Given the description of an element on the screen output the (x, y) to click on. 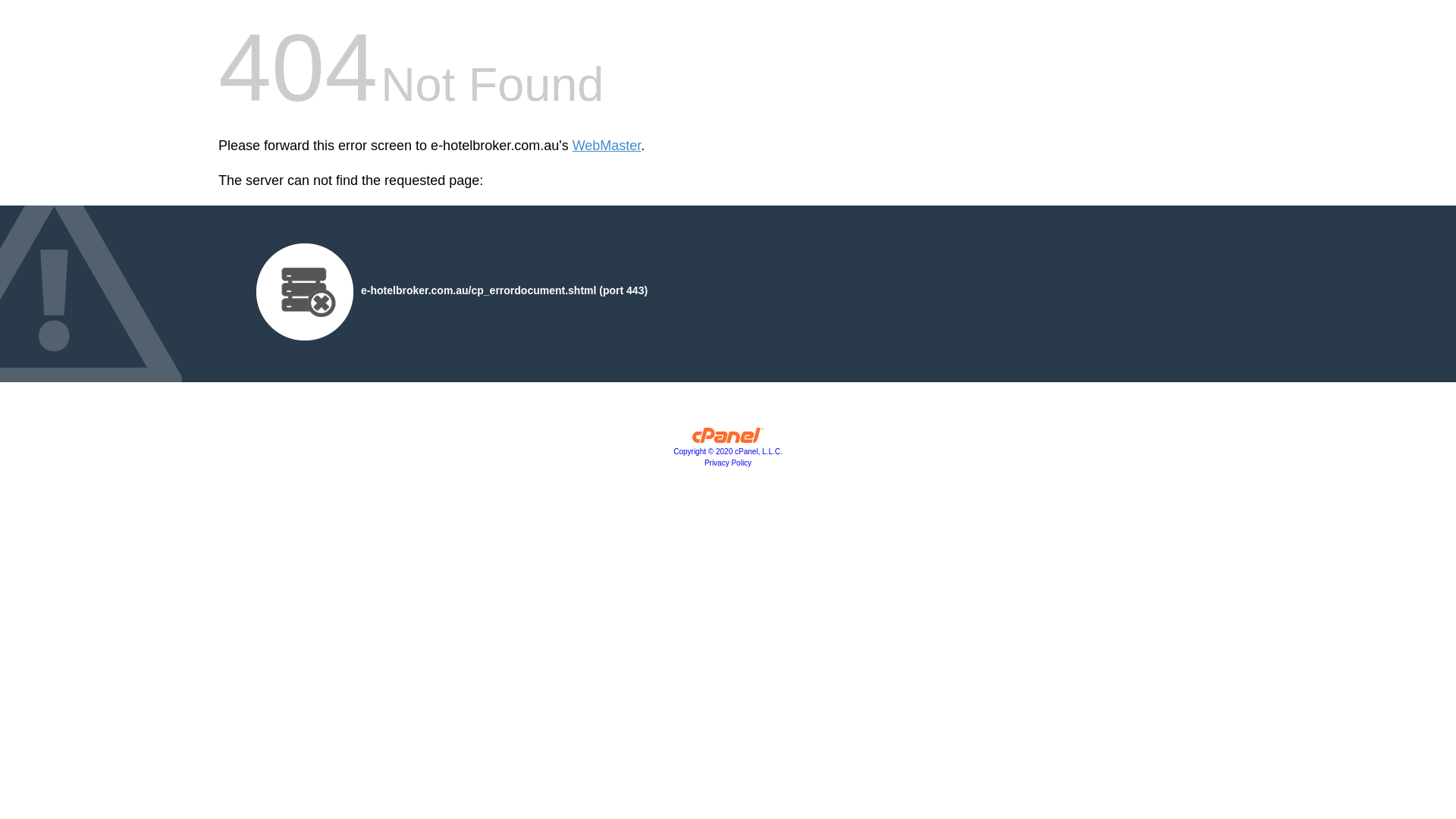
Privacy Policy Element type: text (727, 462)
cPanel, Inc. Element type: hover (728, 439)
WebMaster Element type: text (606, 145)
